Given the description of an element on the screen output the (x, y) to click on. 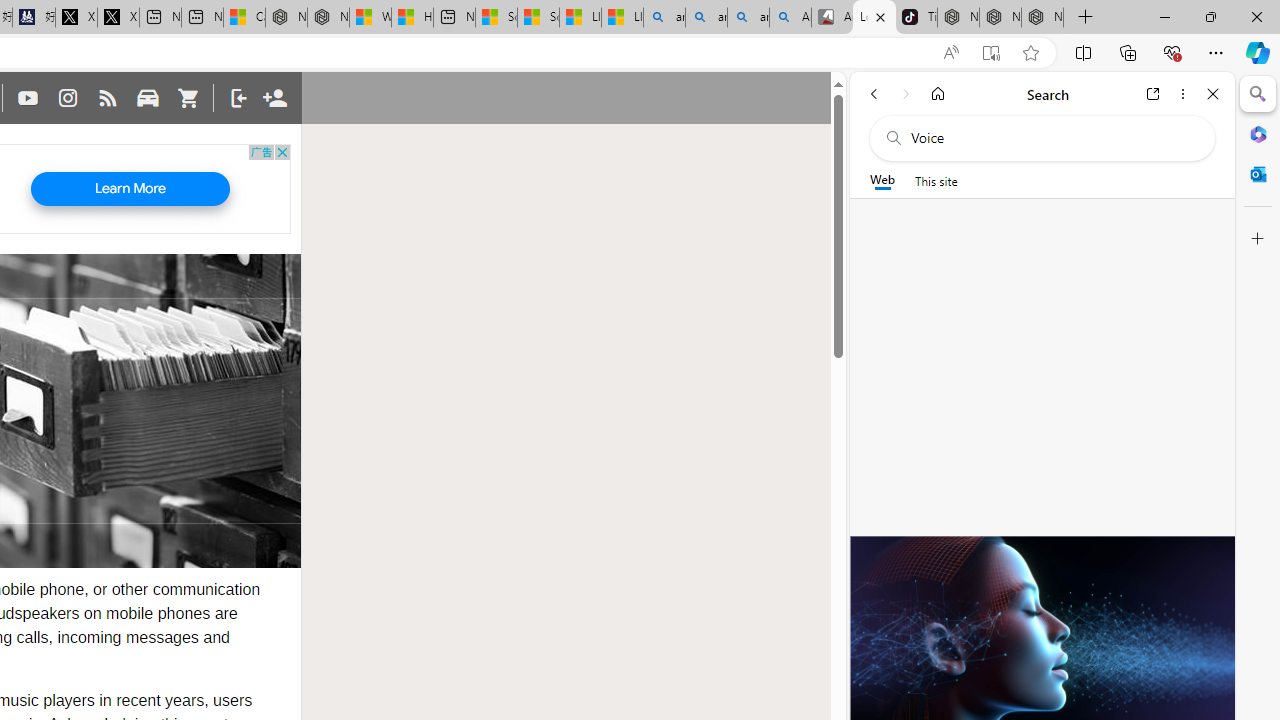
Web scope (882, 180)
Forward (906, 93)
TikTok (916, 17)
Enter Immersive Reader (F9) (991, 53)
Outlook (1258, 174)
Customize (1258, 239)
amazon - Search Images (748, 17)
